Given the description of an element on the screen output the (x, y) to click on. 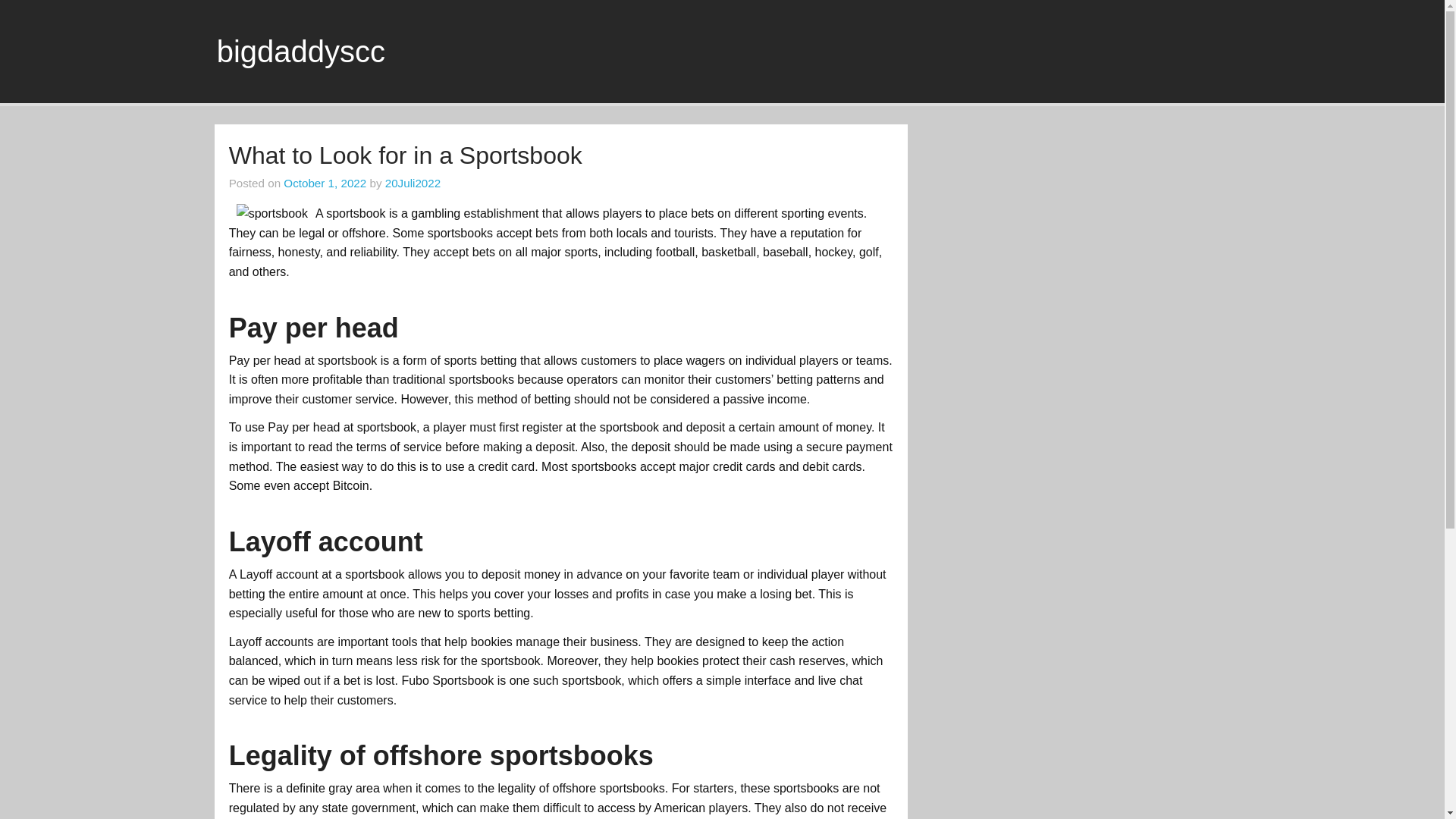
October 1, 2022 (324, 182)
View all posts by 20Juli2022 (413, 182)
bigdaddyscc (300, 51)
10:56 am (324, 182)
20Juli2022 (413, 182)
